Given the description of an element on the screen output the (x, y) to click on. 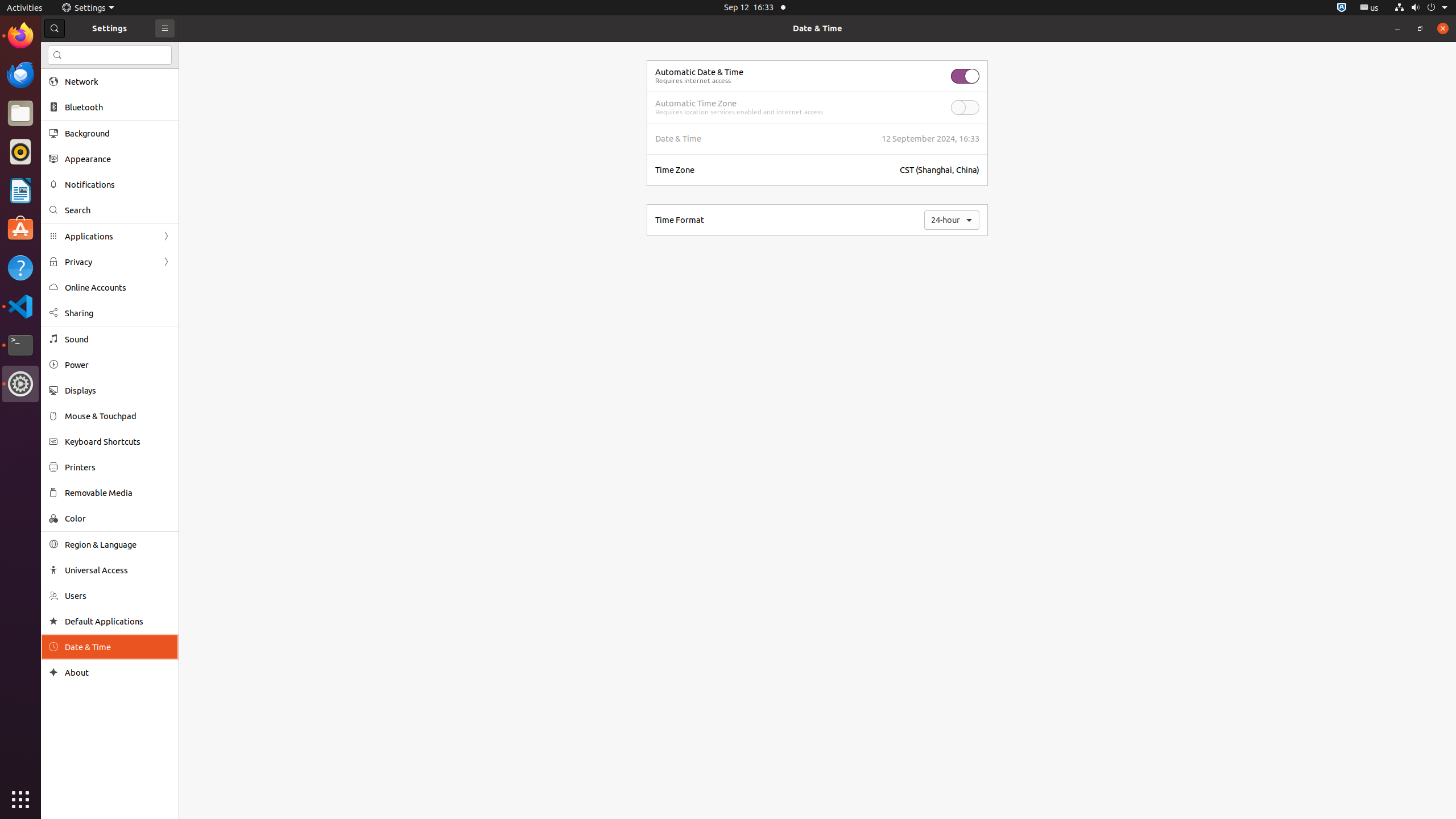
Restore Element type: push-button (1419, 27)
Displays Element type: label (117, 390)
Appearance Element type: label (117, 158)
Primary Menu Element type: toggle-button (164, 28)
